Given the description of an element on the screen output the (x, y) to click on. 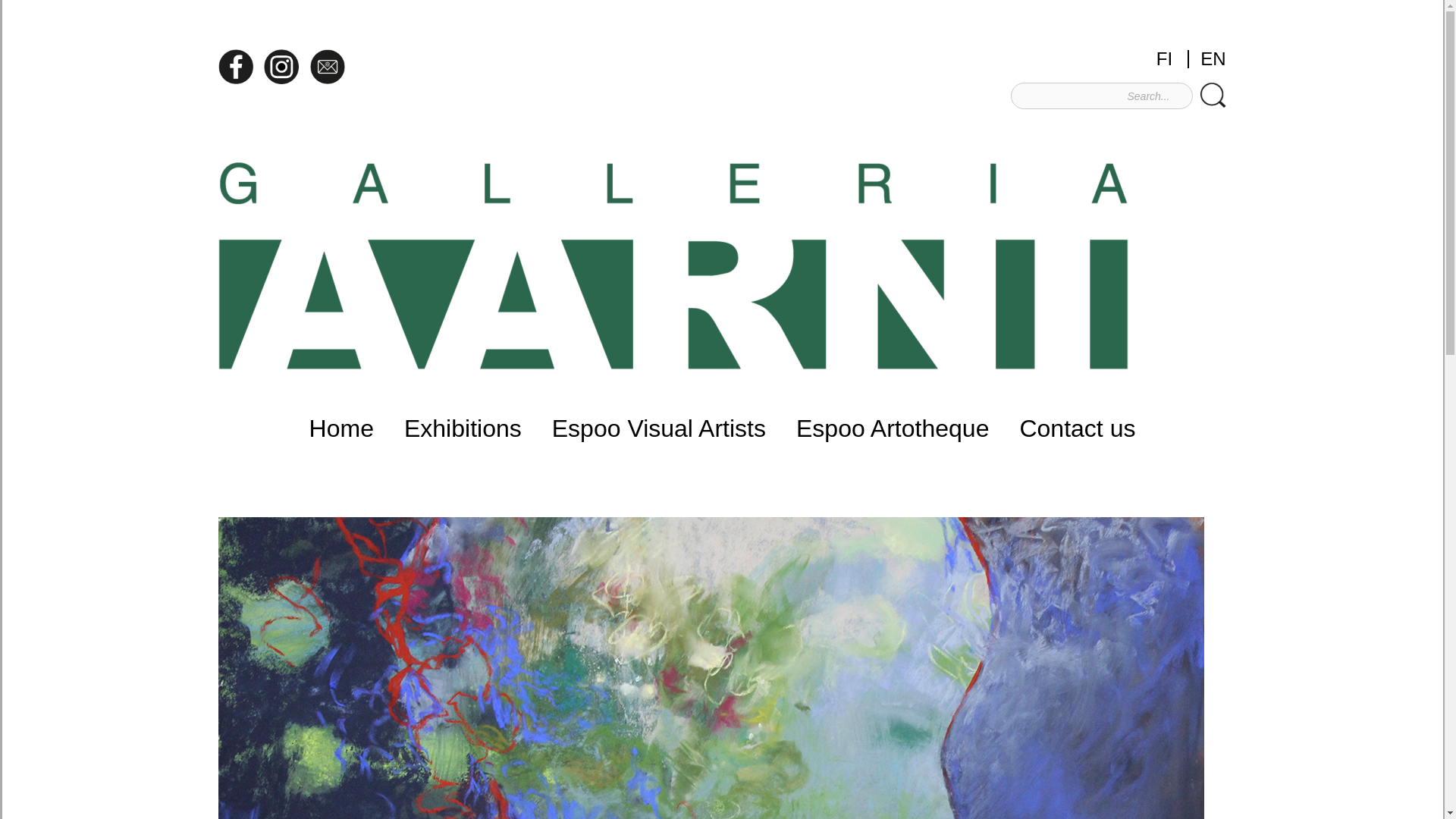
Exhibitions (462, 428)
Search (1212, 94)
Espoo Visual Artists (658, 428)
Search (1212, 94)
Home (341, 428)
Contact us (1077, 428)
Espoo Artotheque (892, 428)
